Given the description of an element on the screen output the (x, y) to click on. 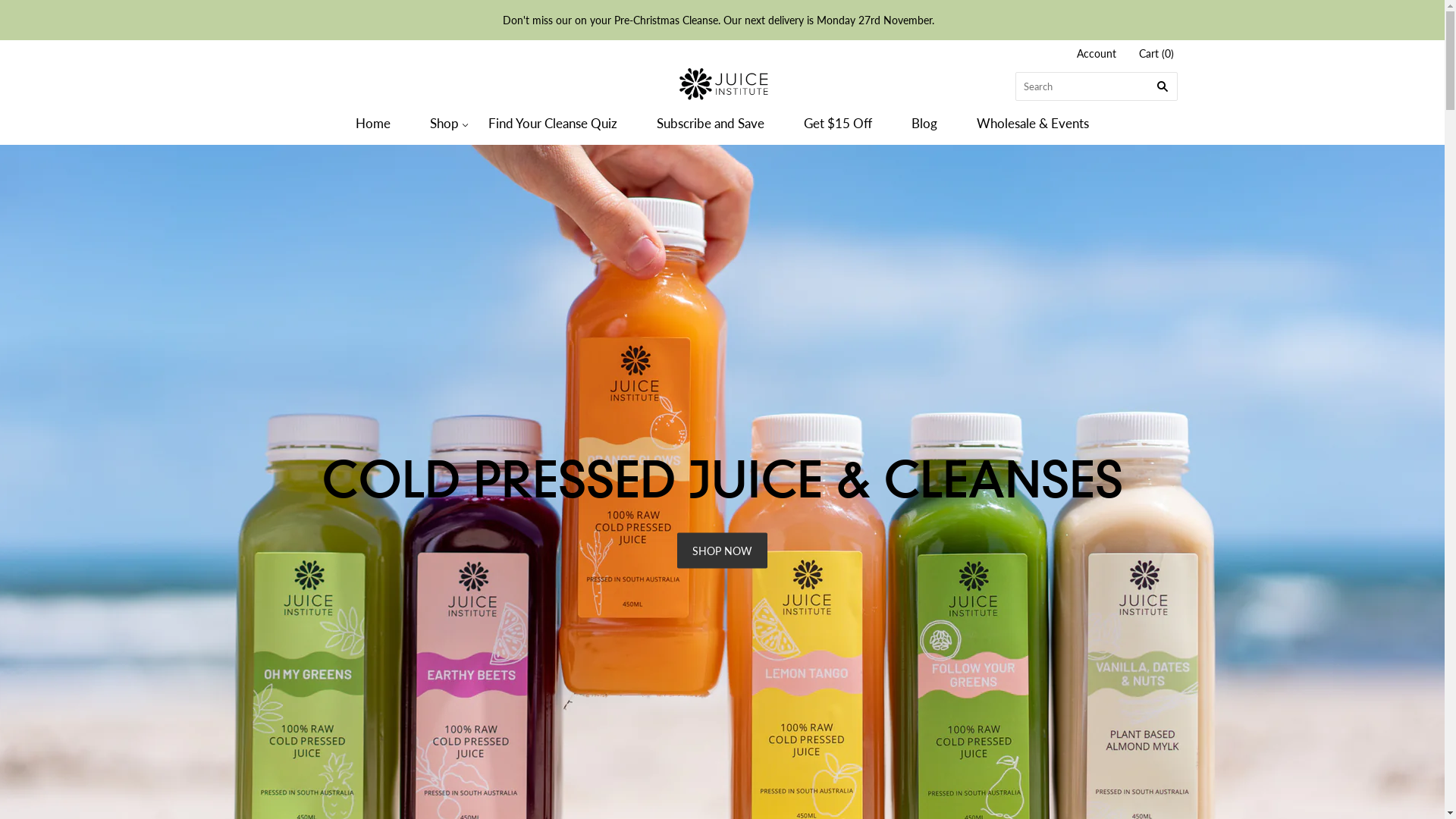
Get $15 Off Element type: text (837, 122)
Home Element type: text (372, 122)
SHOP NOW Element type: text (722, 549)
Shop Element type: text (439, 122)
Wholesale & Events Element type: text (1032, 122)
Find Your Cleanse Quiz Element type: text (552, 122)
Blog Element type: text (924, 122)
Subscribe and Save Element type: text (710, 122)
Cart (0) Element type: text (1156, 53)
Account Element type: text (1096, 53)
